Given the description of an element on the screen output the (x, y) to click on. 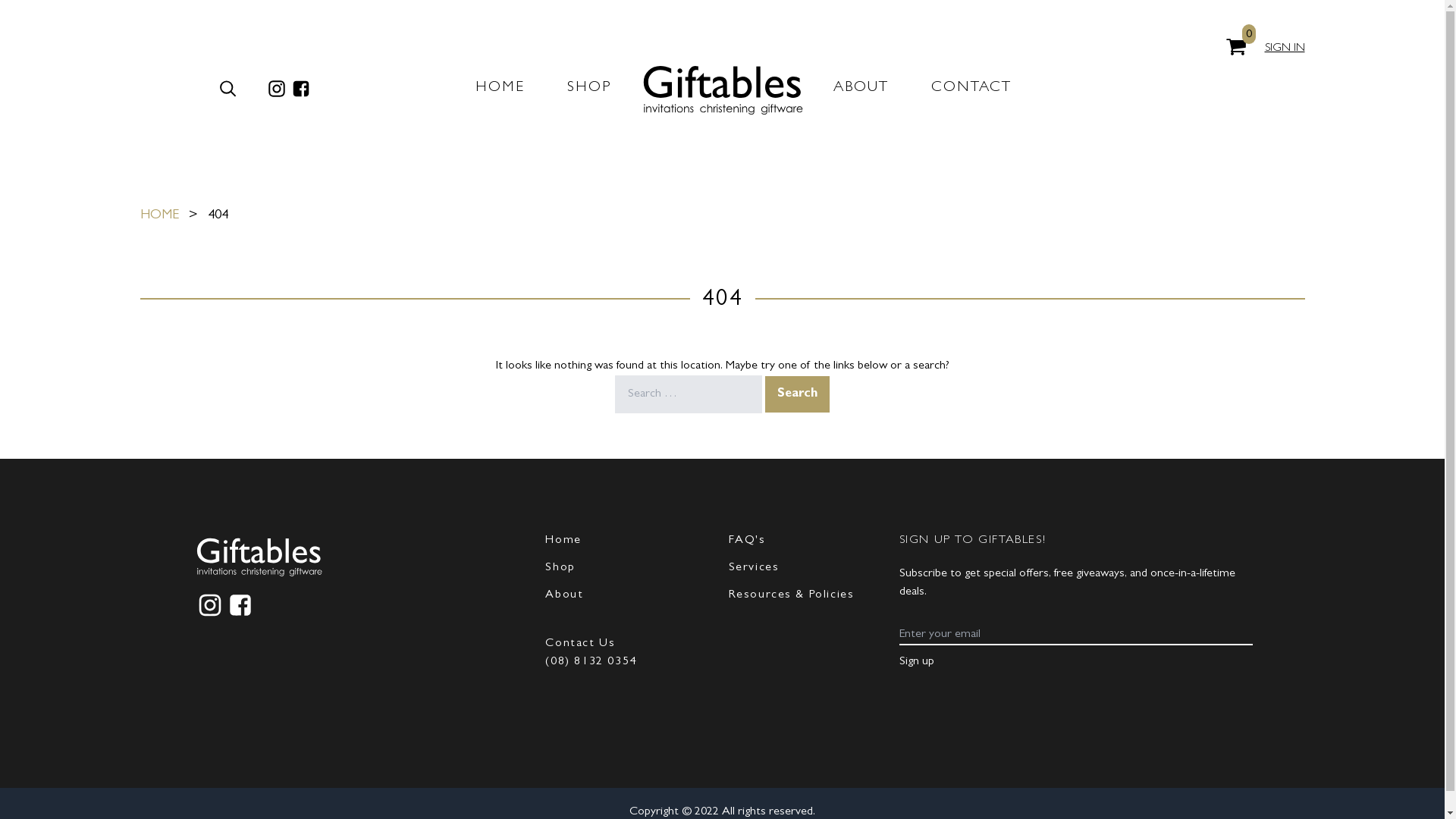
Shop Element type: text (559, 567)
CONTACT Element type: text (971, 88)
0 Element type: text (1235, 46)
Home Element type: text (562, 540)
FAQ's Element type: text (746, 540)
Search Element type: text (797, 394)
Sign up Element type: text (916, 661)
HOME Element type: text (158, 215)
Services Element type: text (753, 567)
HOME Element type: text (499, 88)
Resources & Policies Element type: text (790, 595)
SHOP Element type: text (589, 88)
Search Element type: hover (228, 88)
About Element type: text (564, 595)
(08) 8132 0354 Element type: text (590, 661)
ABOUT Element type: text (860, 88)
SIGN IN Element type: text (1284, 48)
